Given the description of an element on the screen output the (x, y) to click on. 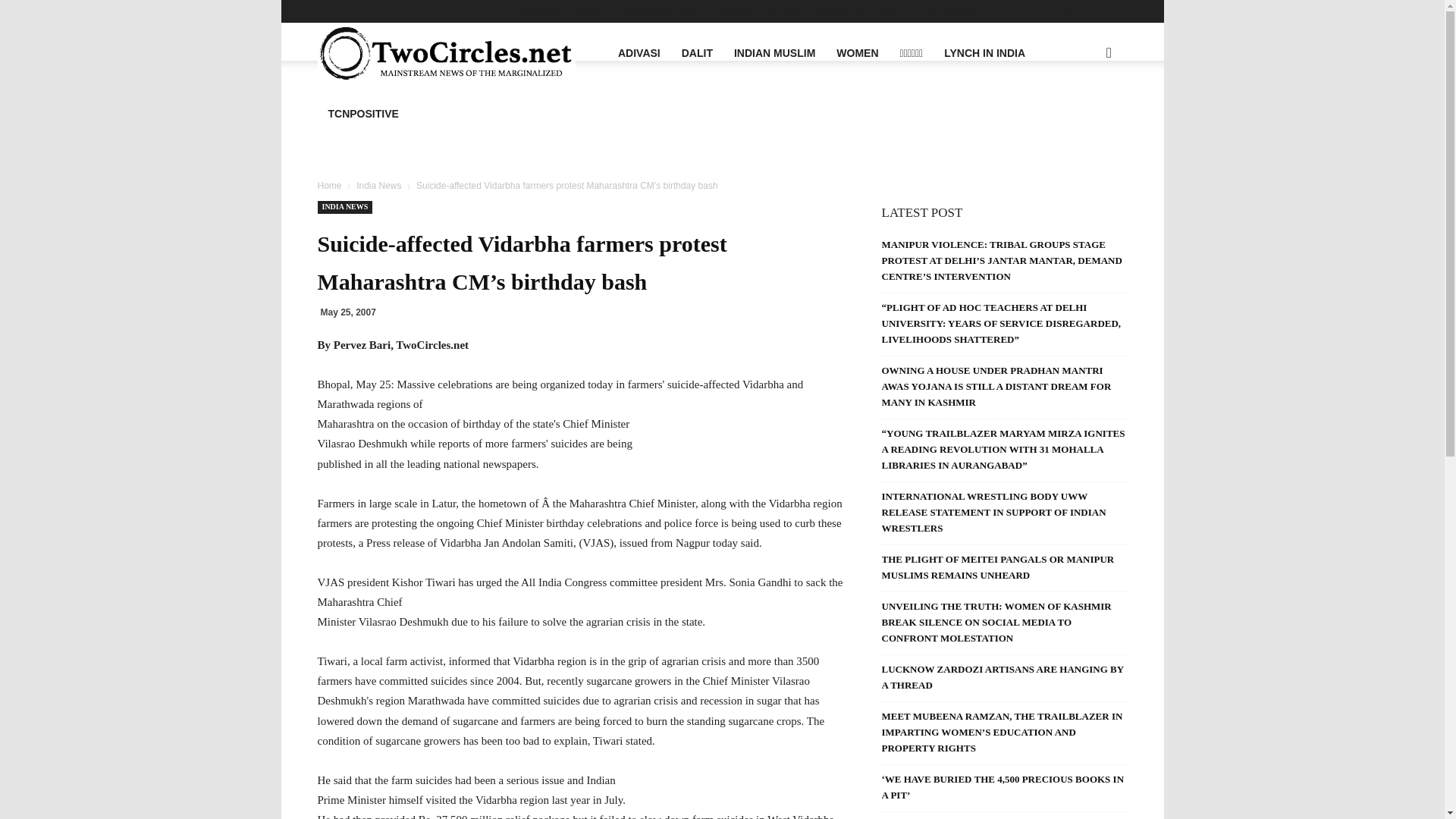
Home (328, 185)
LYNCH IN INDIA (984, 52)
WOMEN (856, 52)
Youtube (1114, 11)
Instagram (1065, 11)
Adivasi (541, 9)
Search (1080, 125)
View all posts in India News (378, 185)
Women (735, 9)
Dalit (590, 9)
TwoCircles.net (446, 53)
TCNPositive (944, 9)
TCNPOSITIVE (363, 113)
Indian Muslim (658, 9)
Flickr (1040, 11)
